Given the description of an element on the screen output the (x, y) to click on. 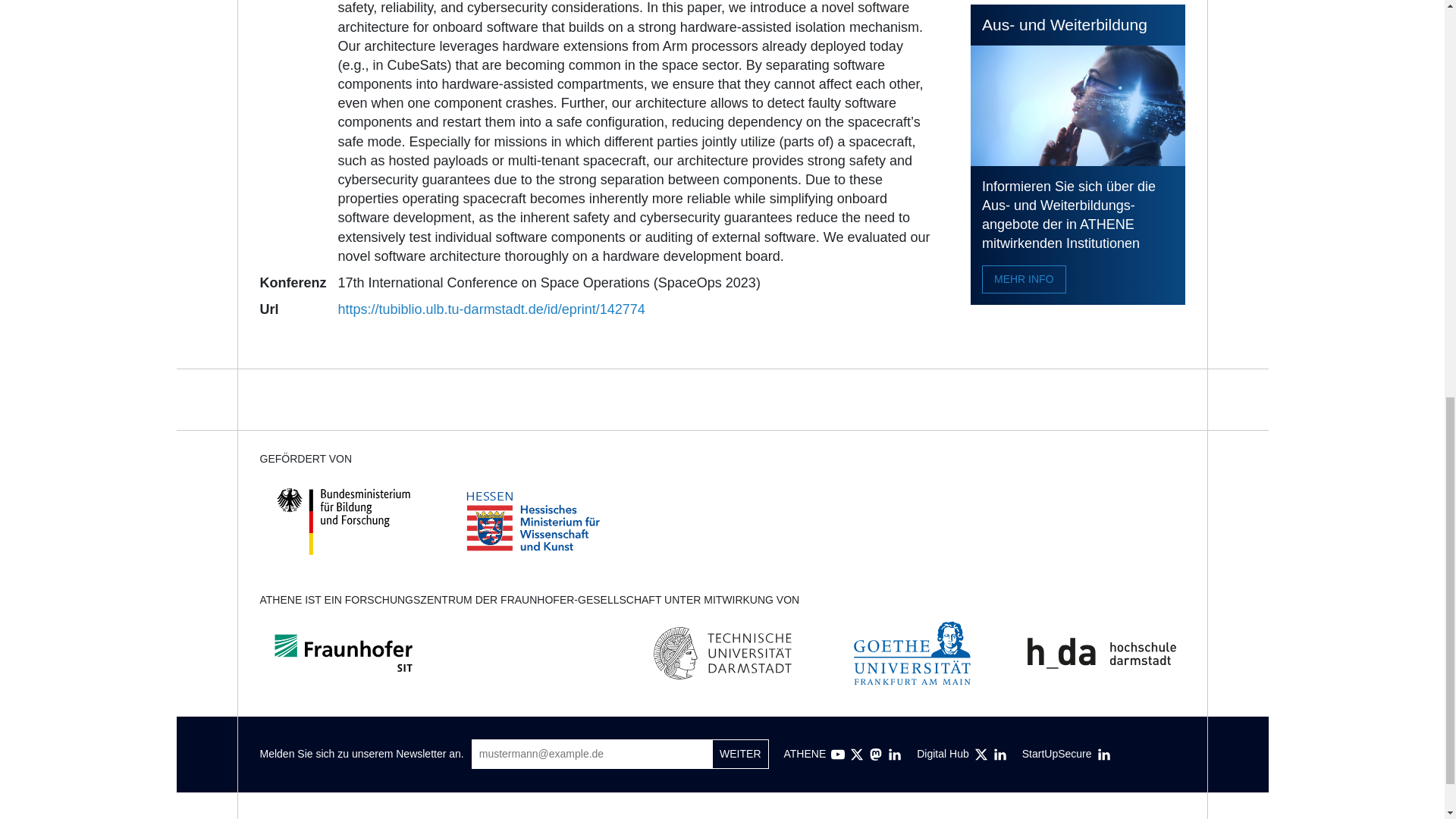
Mastodon (875, 754)
LinkedIn (1103, 754)
Twitter (981, 754)
LinkedIn (999, 754)
YouTube (837, 754)
LinkedIn (894, 754)
Twitter (856, 754)
